Given the description of an element on the screen output the (x, y) to click on. 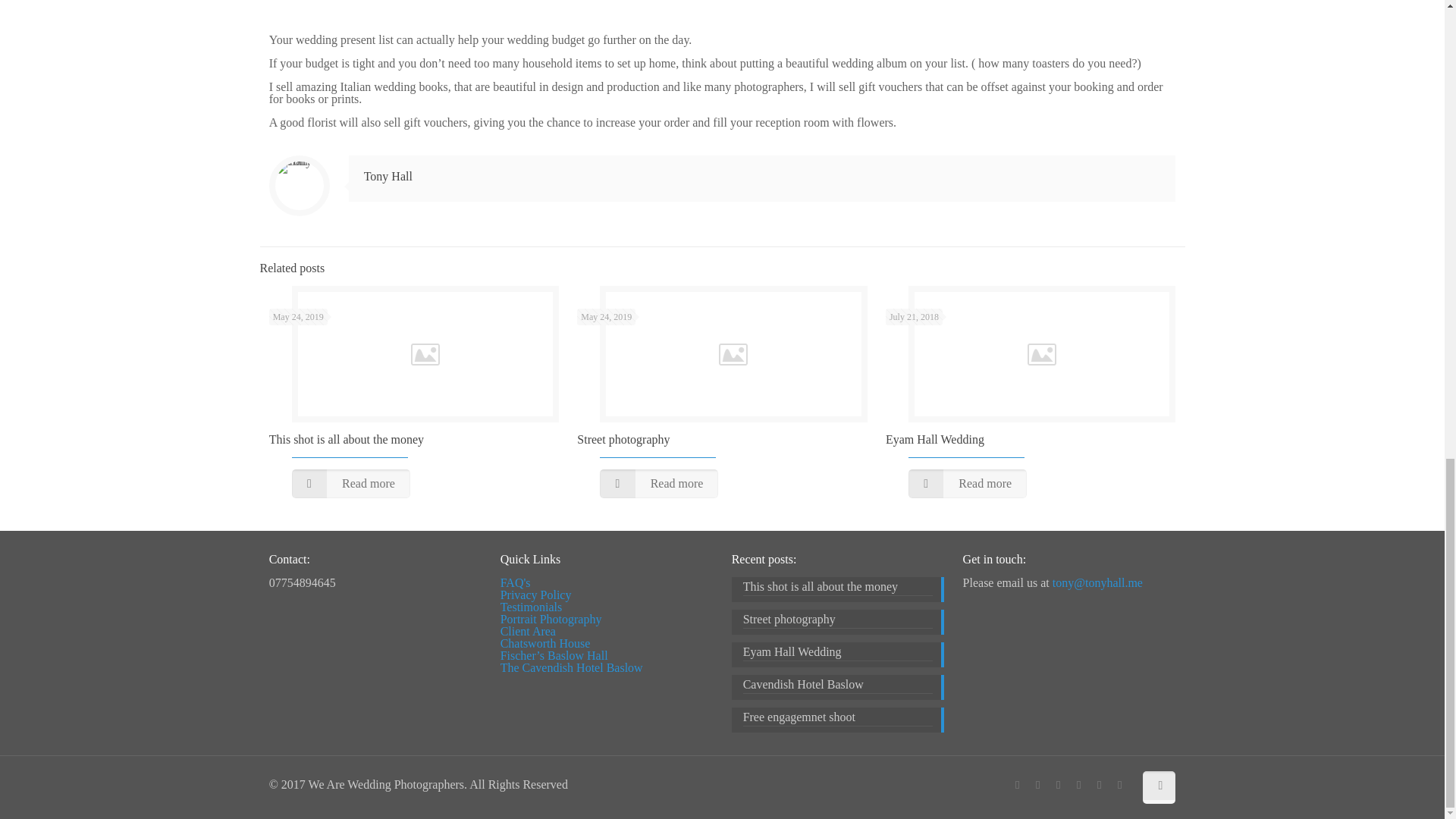
This shot is all about the money (346, 439)
This shot is all about the money (837, 588)
Client Area (528, 631)
The Cavendish Hotel Baslow (571, 667)
Eyam Hall Wedding (934, 439)
Chatsworth House (545, 643)
Twitter (1057, 784)
Testimonials (531, 606)
Privacy Policy (536, 594)
FAQ's (515, 582)
Read more (658, 483)
Tony Hall (388, 175)
Read more (967, 483)
LinkedIn (1078, 784)
Instagram (1119, 784)
